Given the description of an element on the screen output the (x, y) to click on. 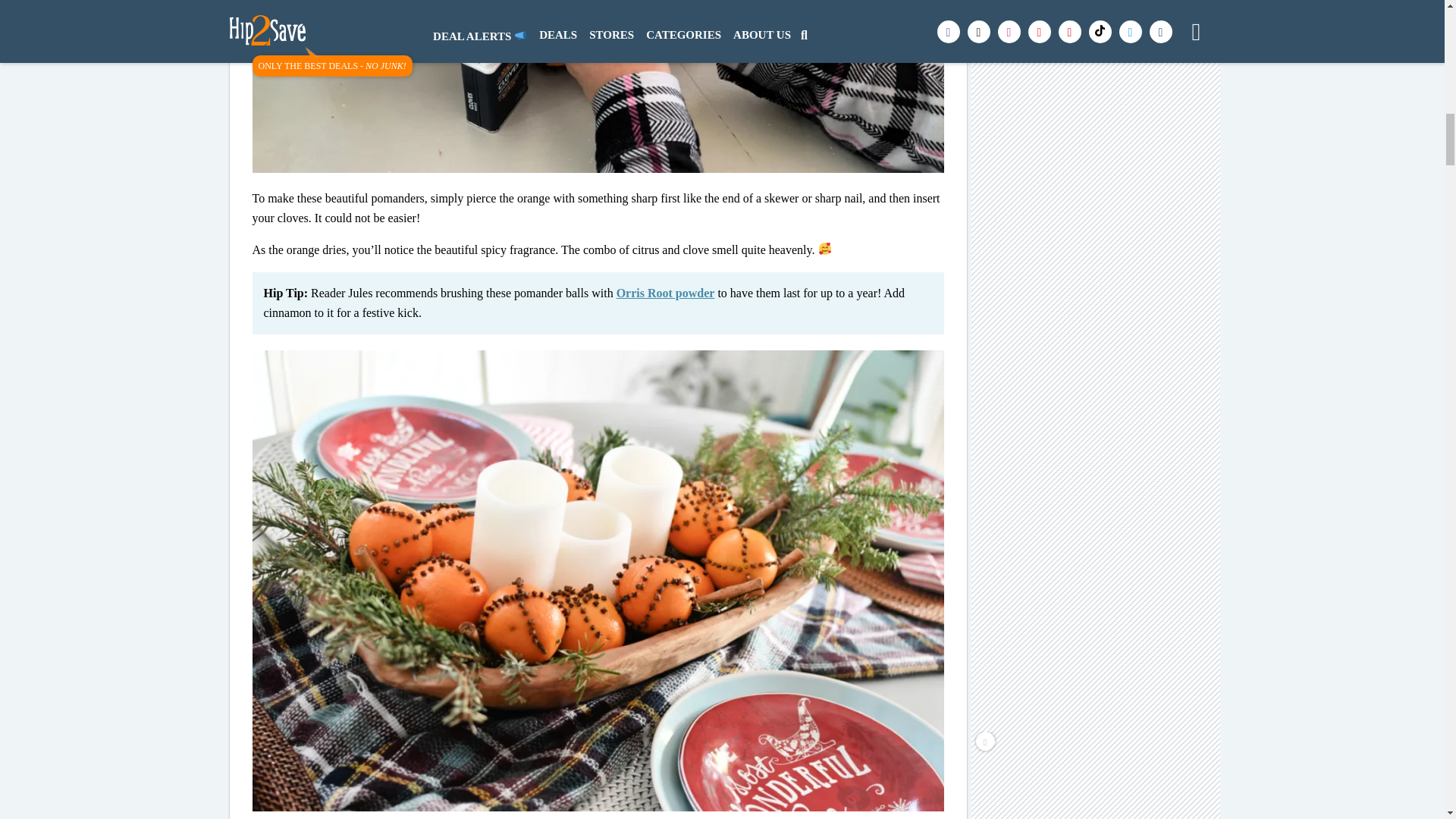
Orris Root powder (664, 292)
